Given the description of an element on the screen output the (x, y) to click on. 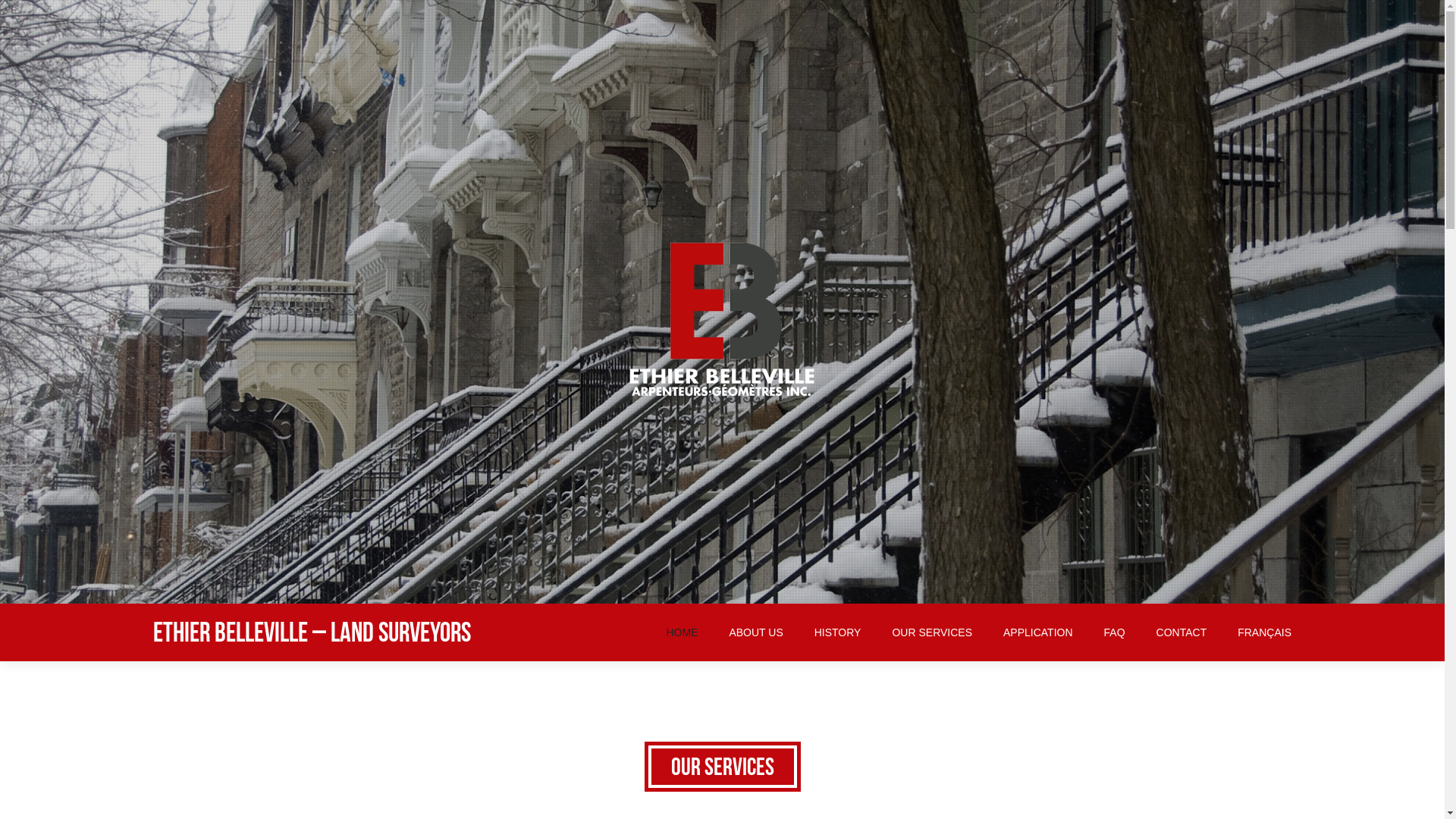
HISTORY Element type: text (837, 632)
OUR SERVICES Element type: text (931, 632)
APPLICATION Element type: text (1038, 632)
ABOUT US Element type: text (755, 632)
Our Services Element type: text (721, 766)
CONTACT Element type: text (1181, 632)
HOME Element type: text (681, 632)
FAQ Element type: text (1114, 632)
